Given the description of an element on the screen output the (x, y) to click on. 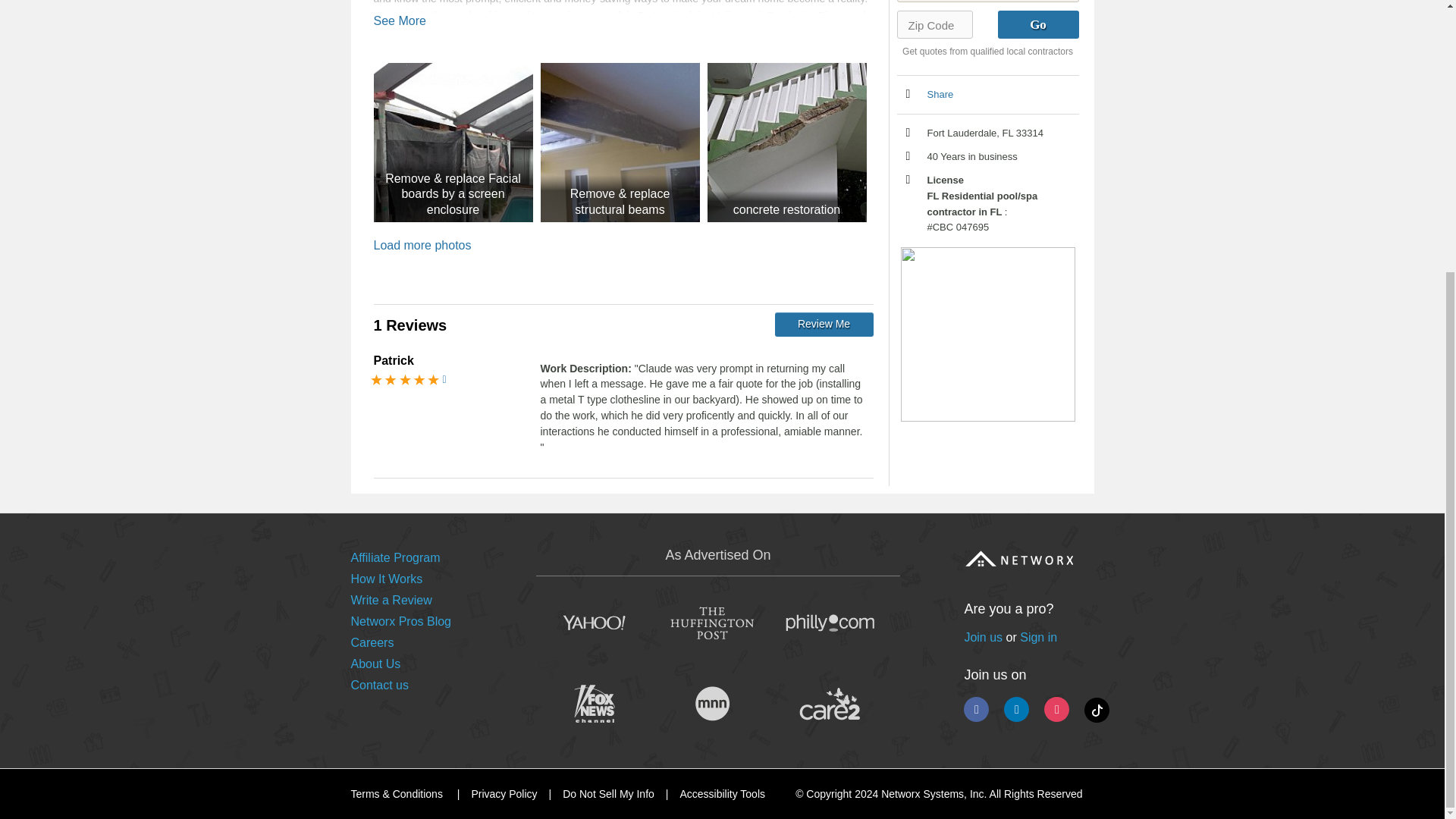
concrete restoration  (786, 142)
Go (1037, 24)
